Given the description of an element on the screen output the (x, y) to click on. 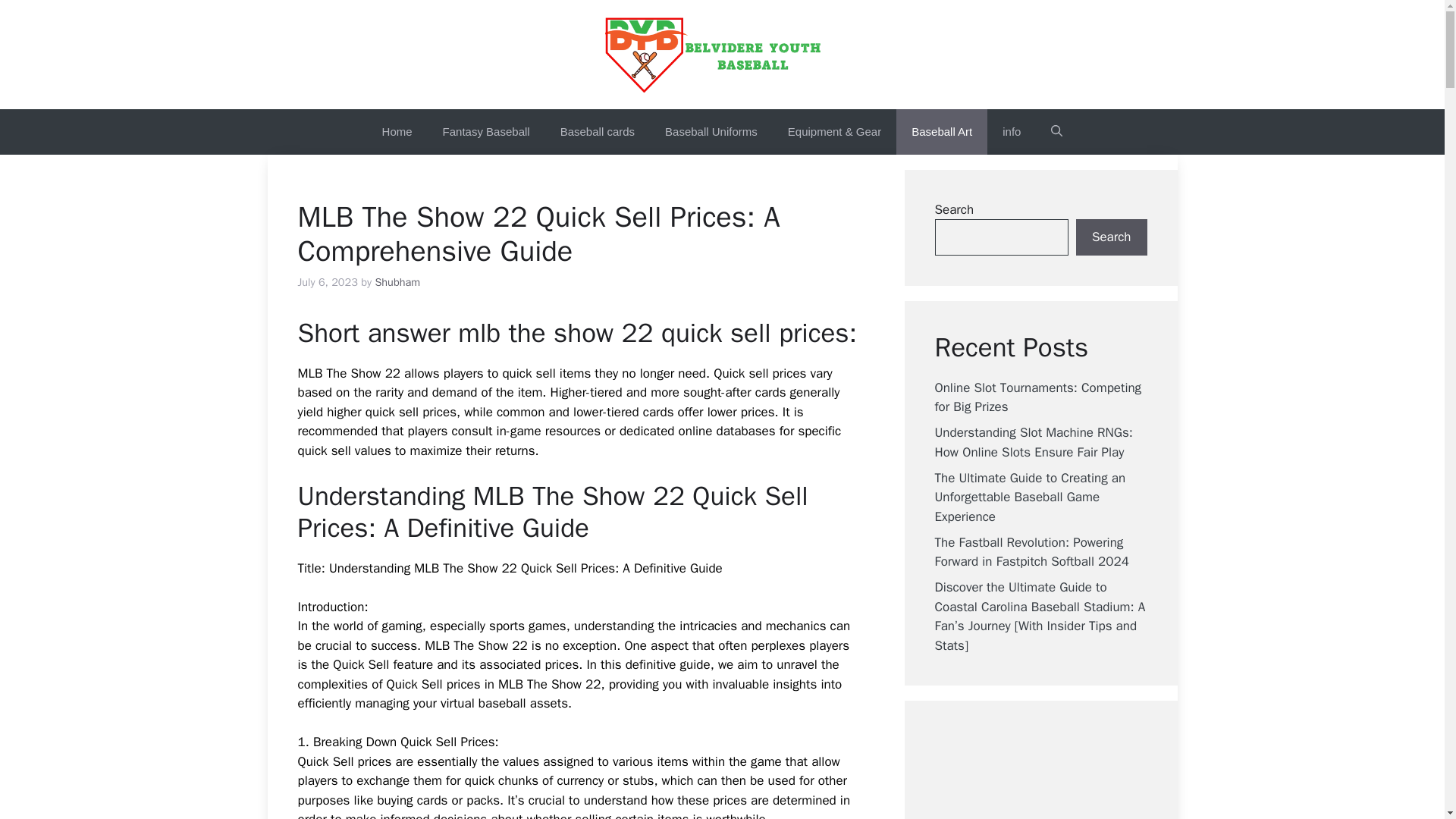
Baseball Art (941, 131)
Baseball cards (596, 131)
Fantasy Baseball (486, 131)
Online Slot Tournaments: Competing for Big Prizes (1037, 397)
Baseball Uniforms (711, 131)
Shubham (397, 282)
View all posts by Shubham (397, 282)
